Given the description of an element on the screen output the (x, y) to click on. 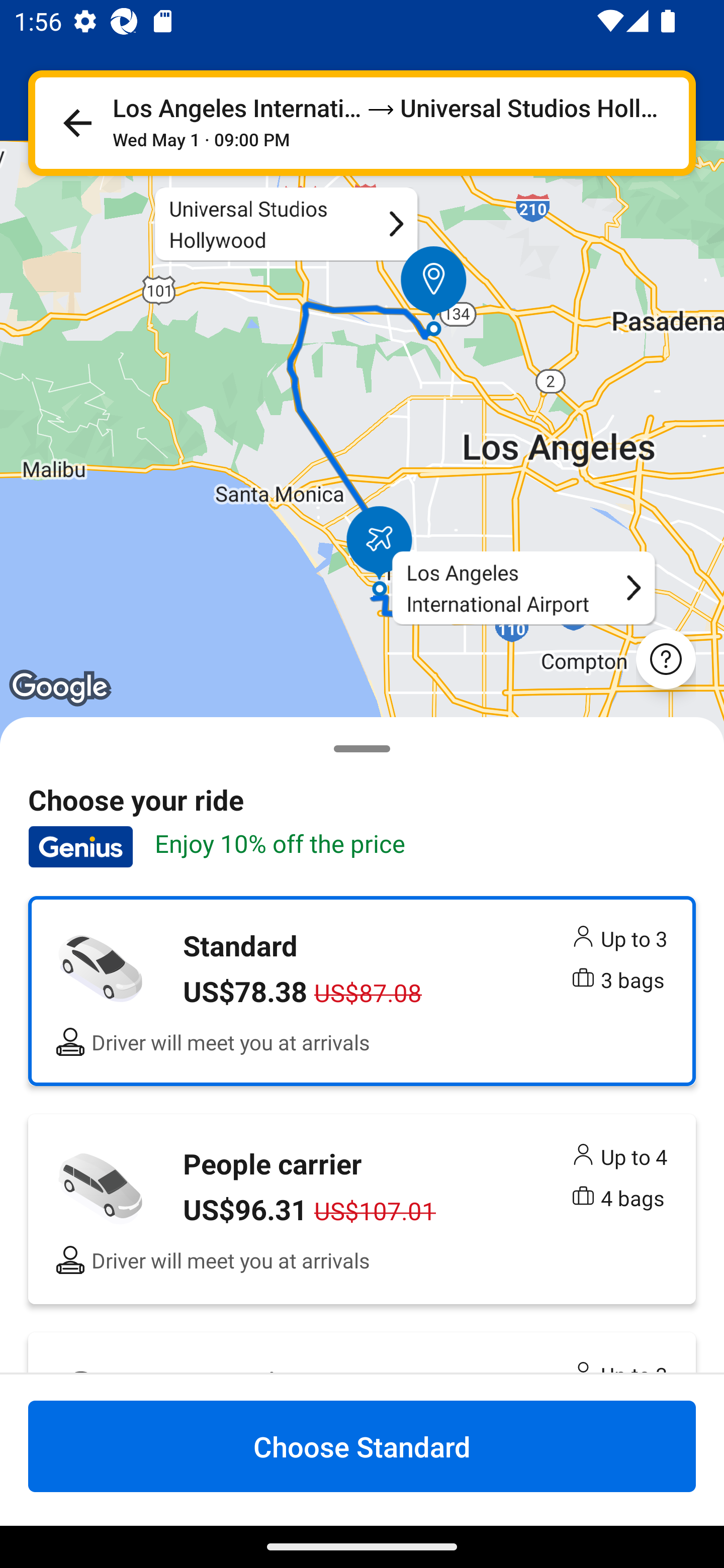
Back (77, 122)
Help center (665, 658)
Choose Standard (361, 1446)
